Given the description of an element on the screen output the (x, y) to click on. 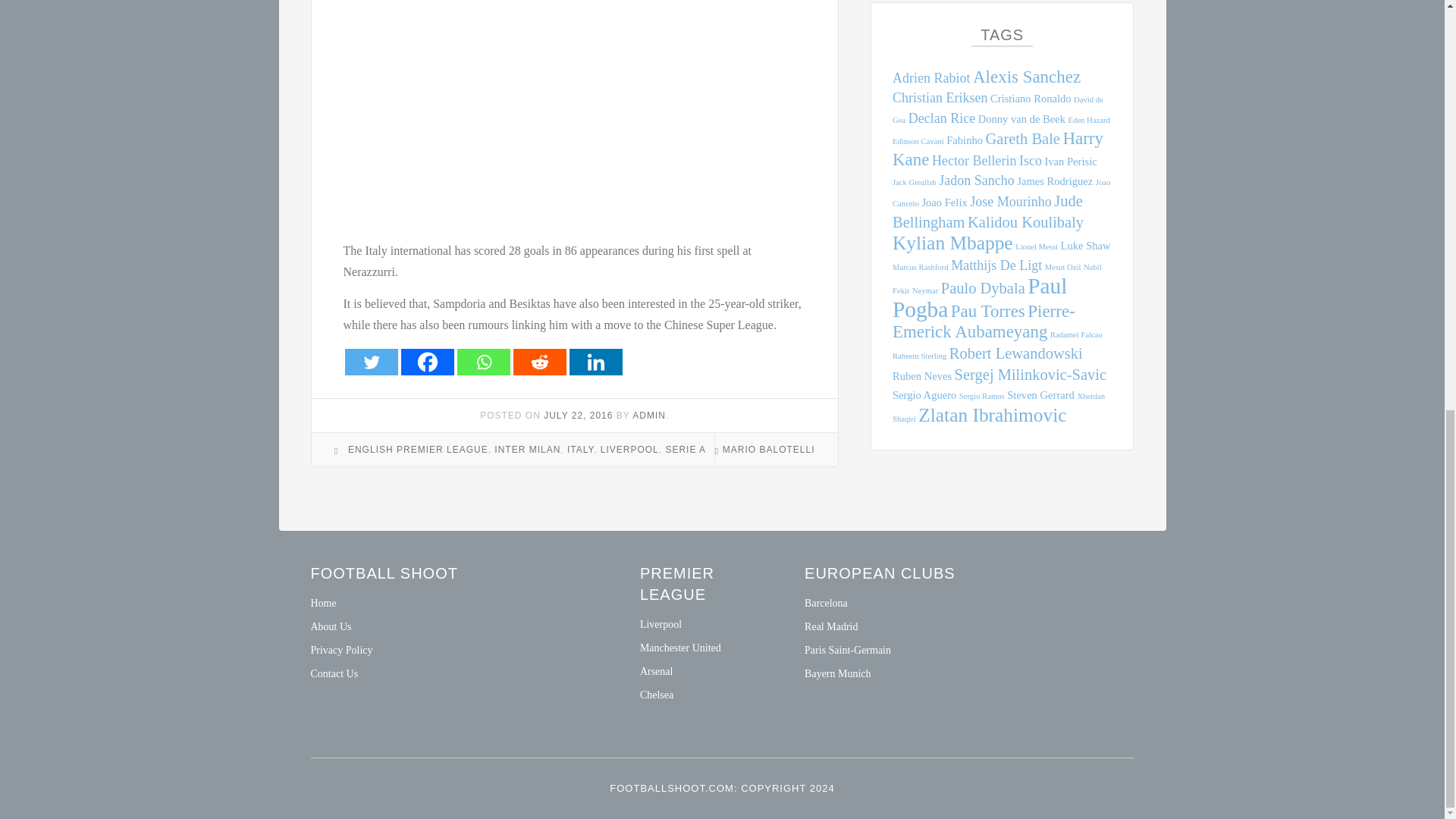
INTER MILAN (527, 449)
Cristiano Ronaldo (1030, 98)
Whatsapp (483, 361)
Adrien Rabiot (931, 77)
JULY 22, 2016 (577, 415)
Reddit (539, 361)
ENGLISH PREMIER LEAGUE (417, 449)
LIVERPOOL (629, 449)
Facebook (426, 361)
Twitter (370, 361)
